Given the description of an element on the screen output the (x, y) to click on. 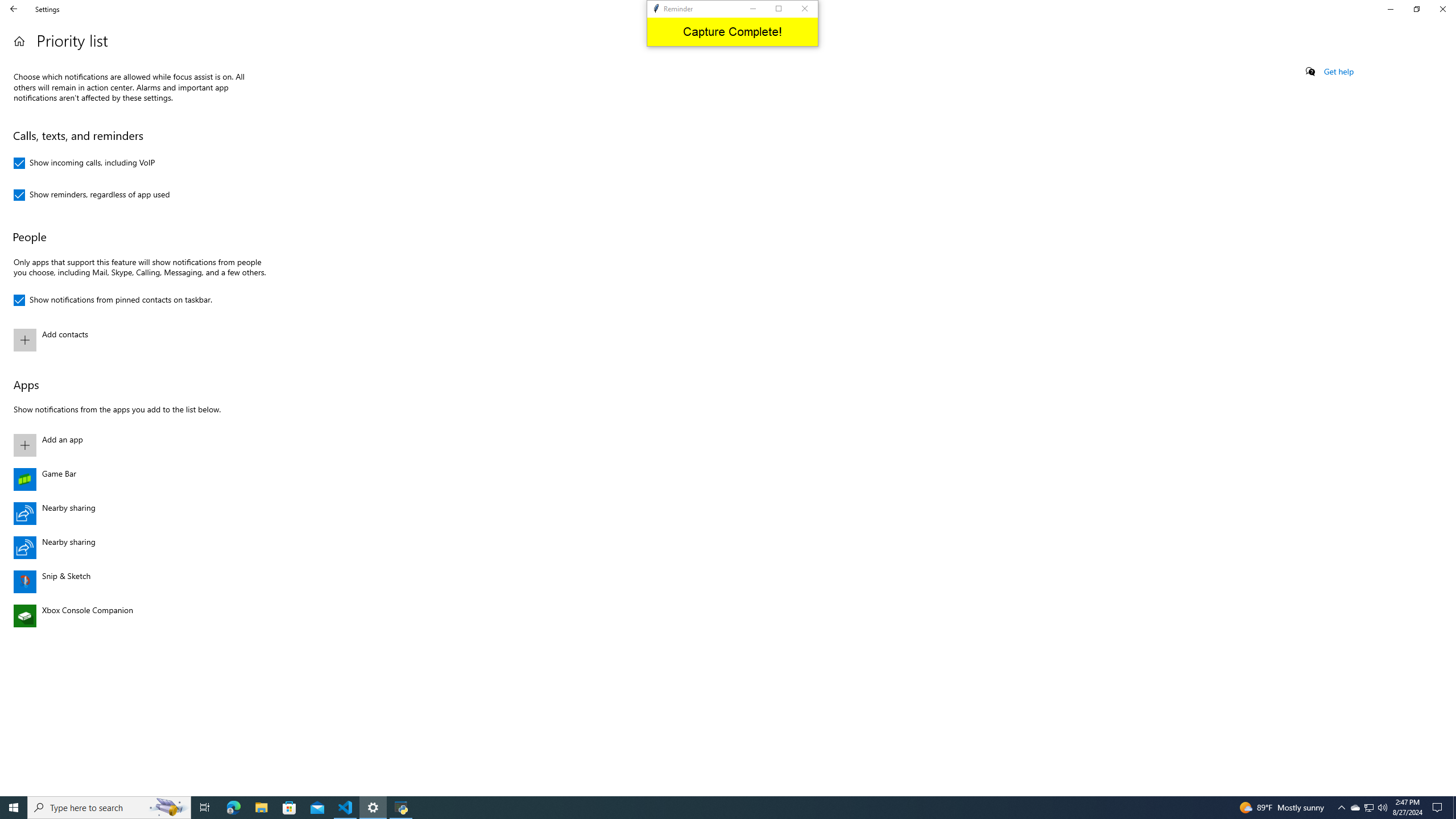
Get help (1338, 71)
Game Bar (137, 479)
Show notifications from pinned contacts on taskbar. (112, 300)
Restore Settings (1416, 9)
Show reminders, regardless of app used (91, 194)
Snip & Sketch (137, 581)
Xbox Console Companion (137, 615)
